Given the description of an element on the screen output the (x, y) to click on. 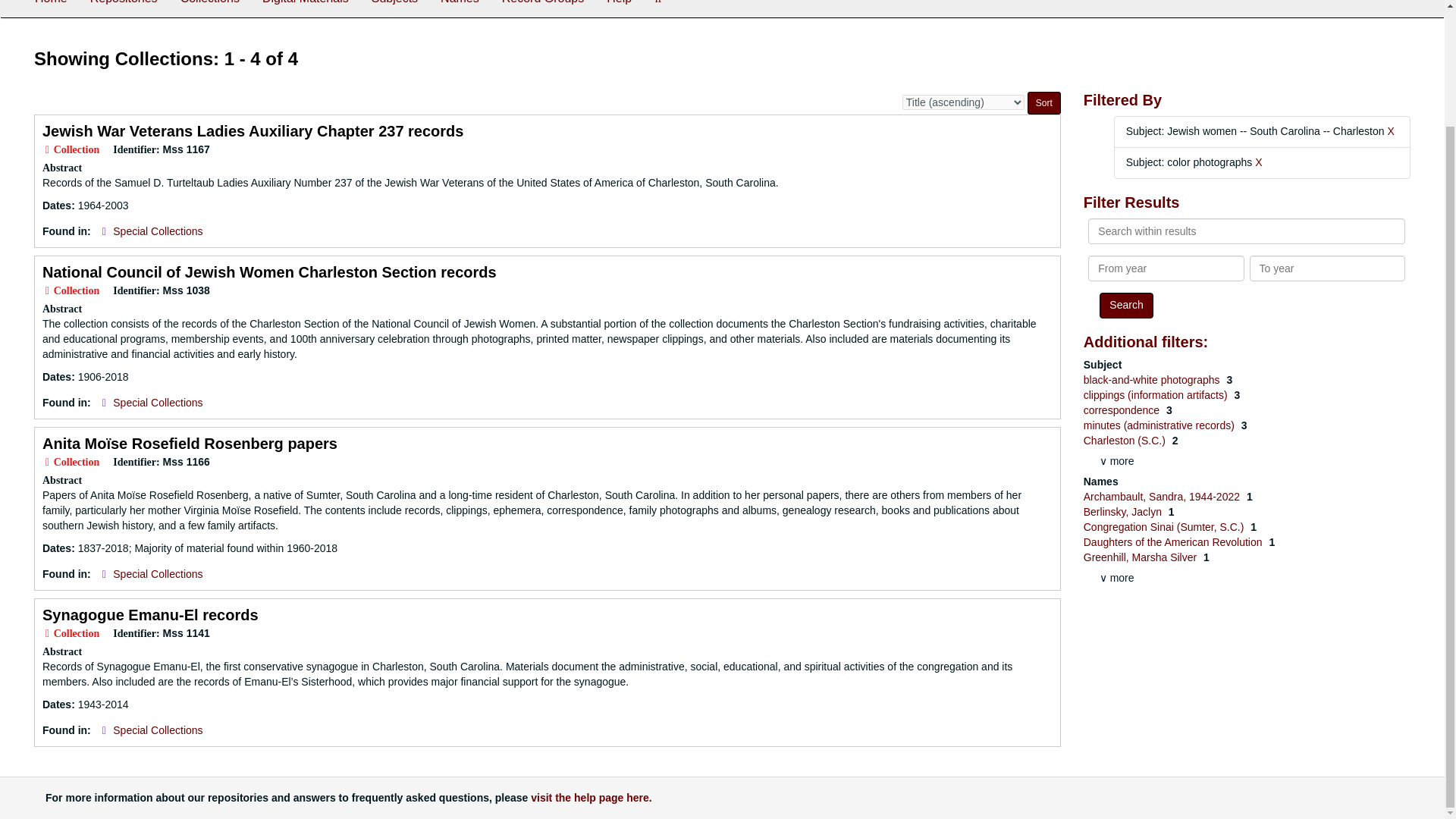
Special Collections (157, 402)
black-and-white photographs (1153, 379)
translation missing: en.Help (619, 2)
Home (50, 8)
Sort (1044, 102)
Special Collections (157, 573)
Digital Materials (304, 8)
National Council of Jewish Women Charleston Section records (269, 271)
Subjects (394, 8)
Synagogue Emanu-El records (150, 614)
Search (1126, 305)
Names (459, 8)
Search The Archives (657, 8)
Search (1126, 305)
Special Collections (157, 231)
